Given the description of an element on the screen output the (x, y) to click on. 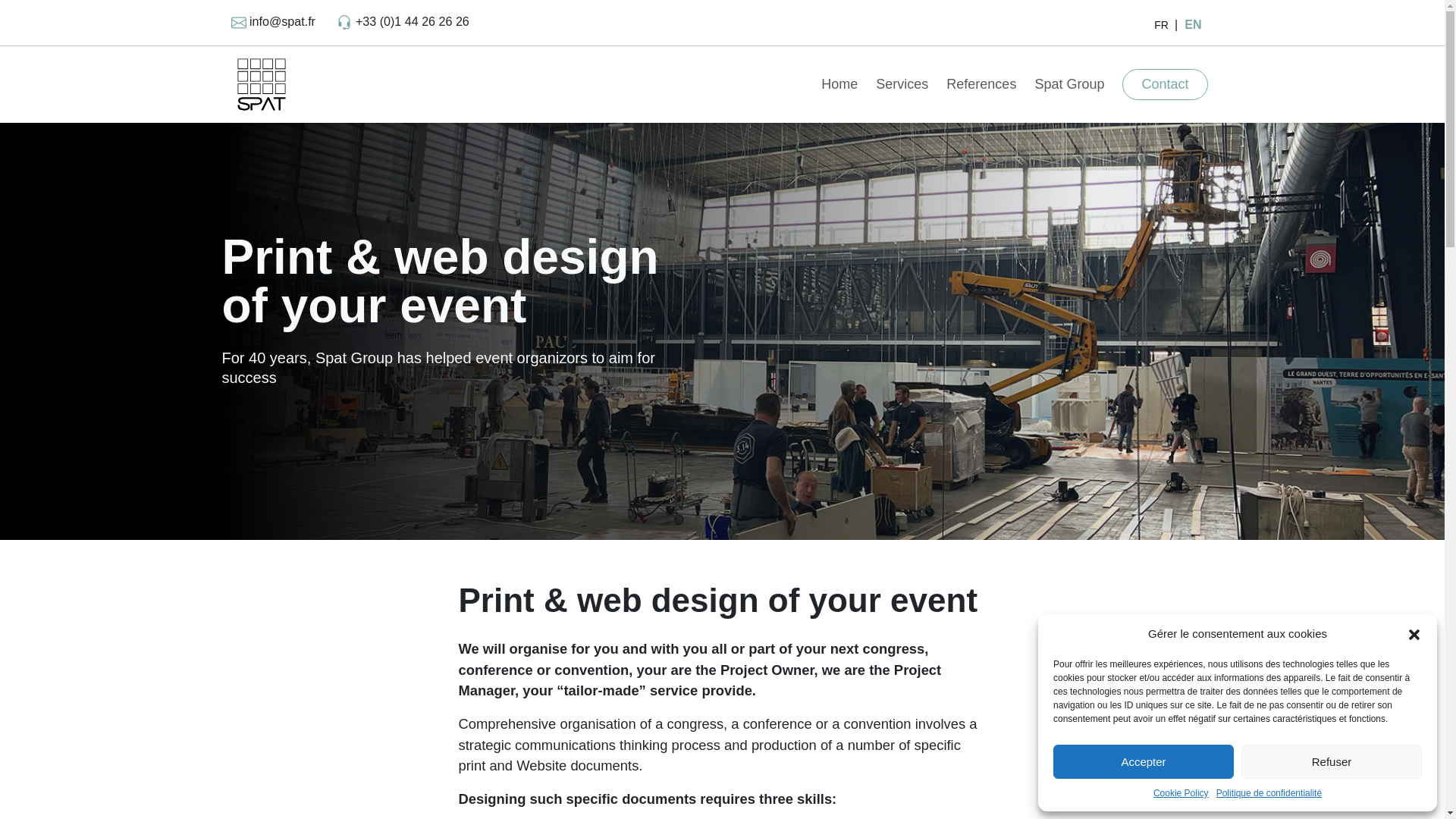
References (983, 83)
Spat Group (1071, 83)
Cookie Policy (1180, 793)
EN (1193, 24)
Home (842, 83)
Refuser (1331, 761)
Services (904, 83)
Contact (1164, 83)
Accepter (1142, 761)
FR (1161, 24)
